Given the description of an element on the screen output the (x, y) to click on. 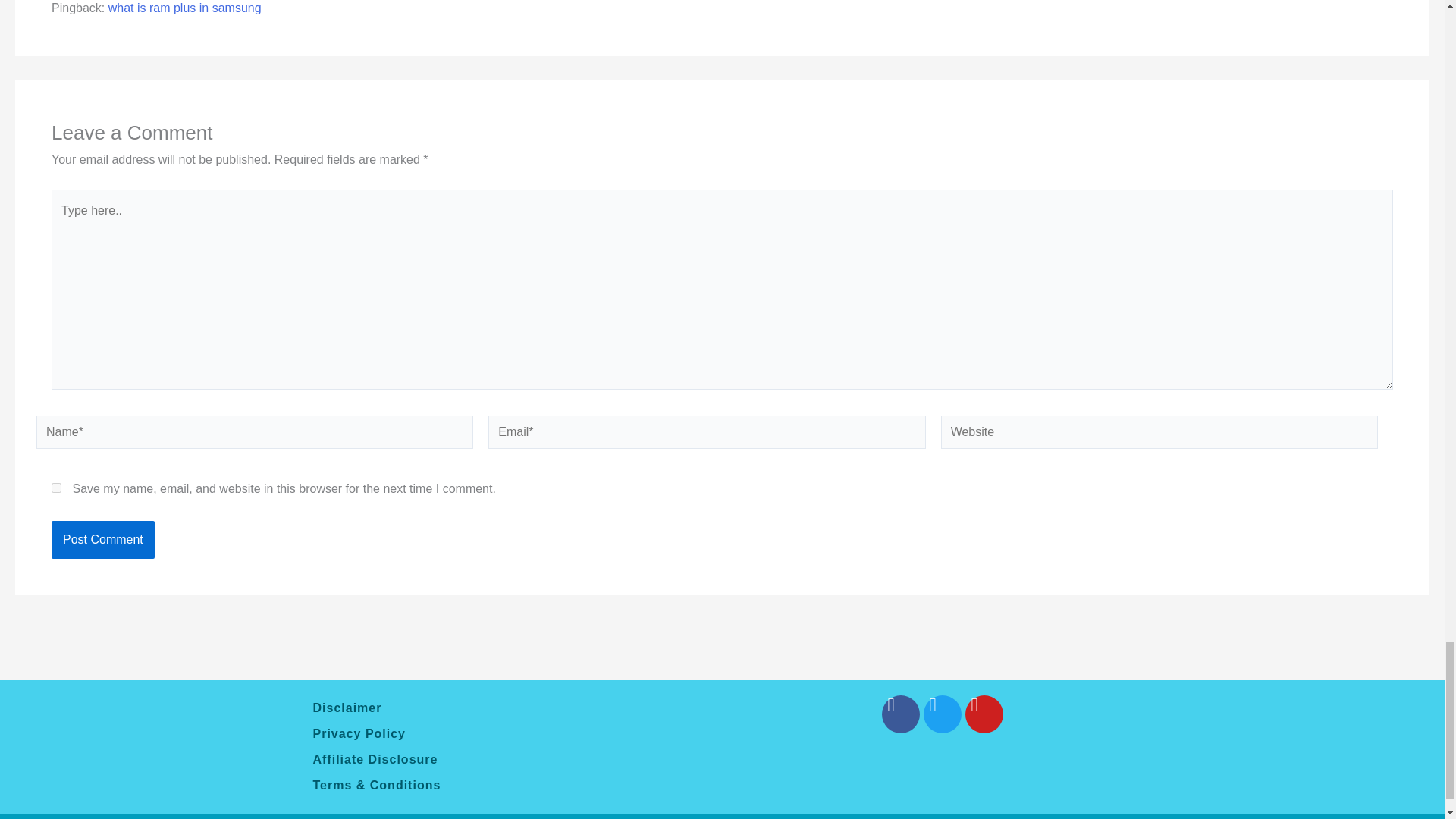
Disclaimer (501, 708)
Post Comment (102, 539)
yes (55, 488)
Post Comment (102, 539)
Affiliate Disclosure (501, 759)
Twitter (941, 714)
what is ram plus in samsung (184, 7)
Privacy Policy (501, 733)
Youtube (983, 714)
Facebook (899, 714)
